Given the description of an element on the screen output the (x, y) to click on. 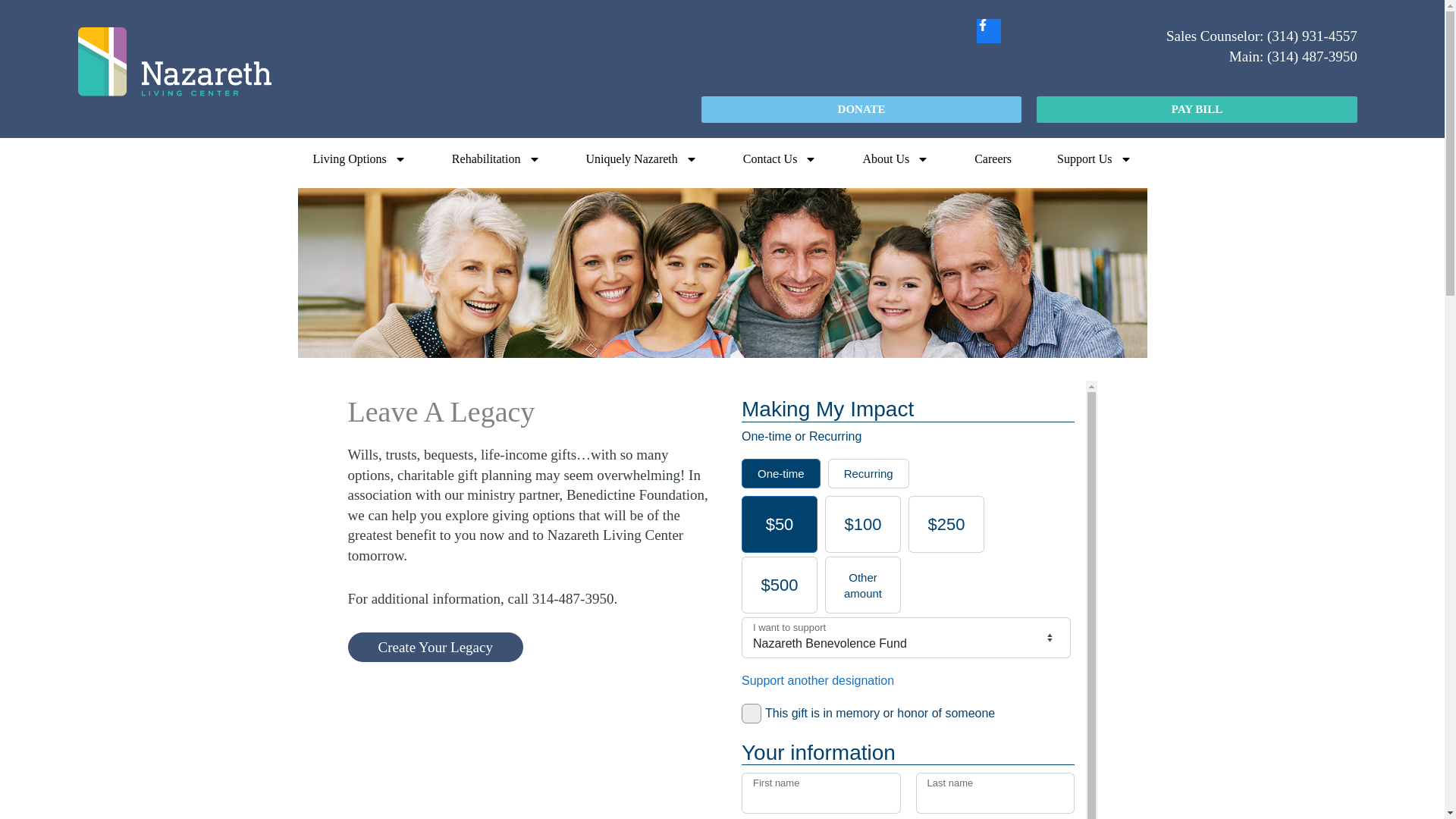
PAY BILL (1196, 109)
DONATE (861, 109)
About Us (896, 159)
Contact Us (780, 159)
Rehabilitation (496, 159)
Careers (992, 159)
Facebook-f (988, 30)
Uniquely Nazareth (641, 159)
Support Us (1093, 159)
Living Options (358, 159)
